Given the description of an element on the screen output the (x, y) to click on. 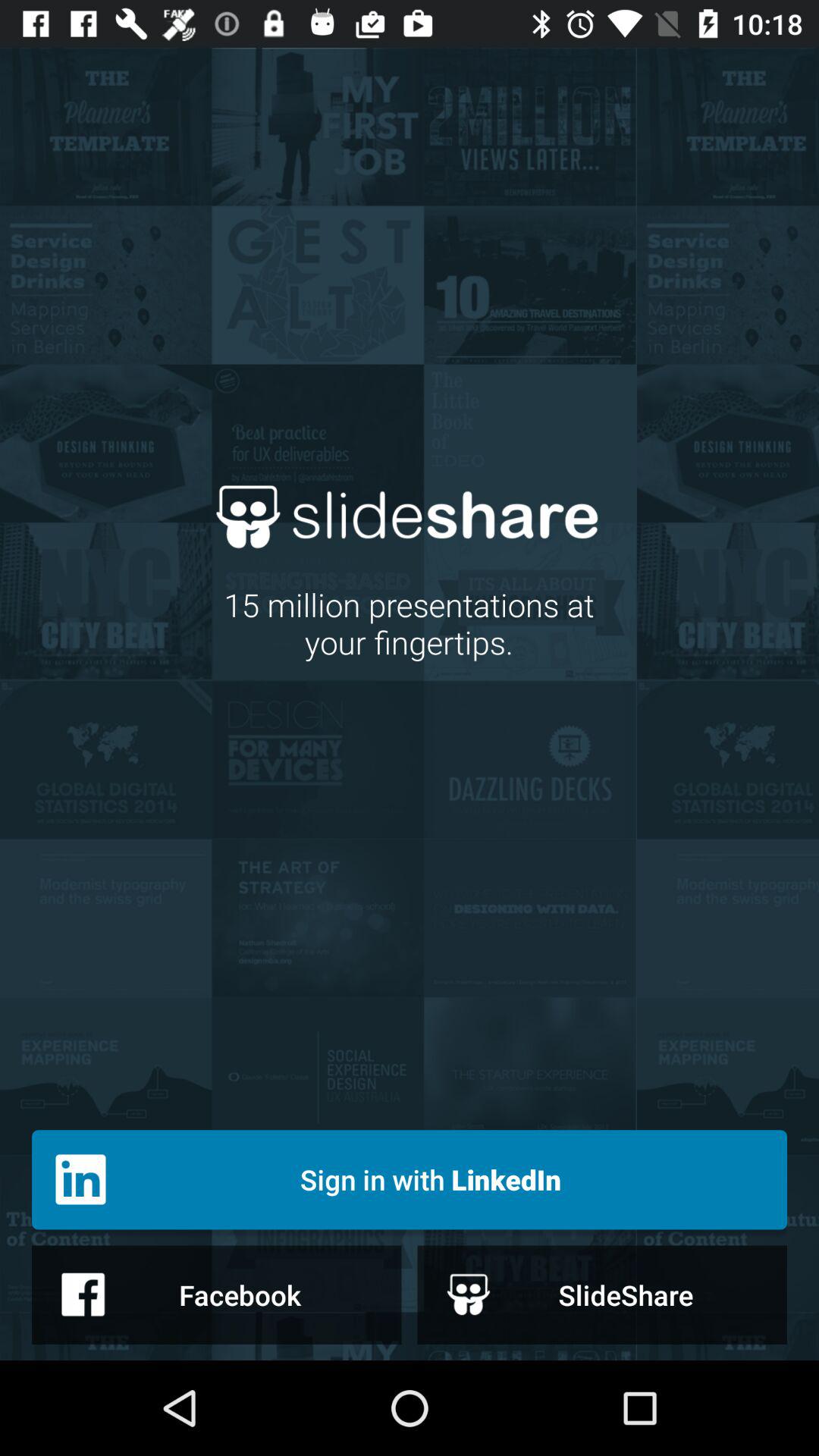
open the icon below sign in with icon (216, 1294)
